Given the description of an element on the screen output the (x, y) to click on. 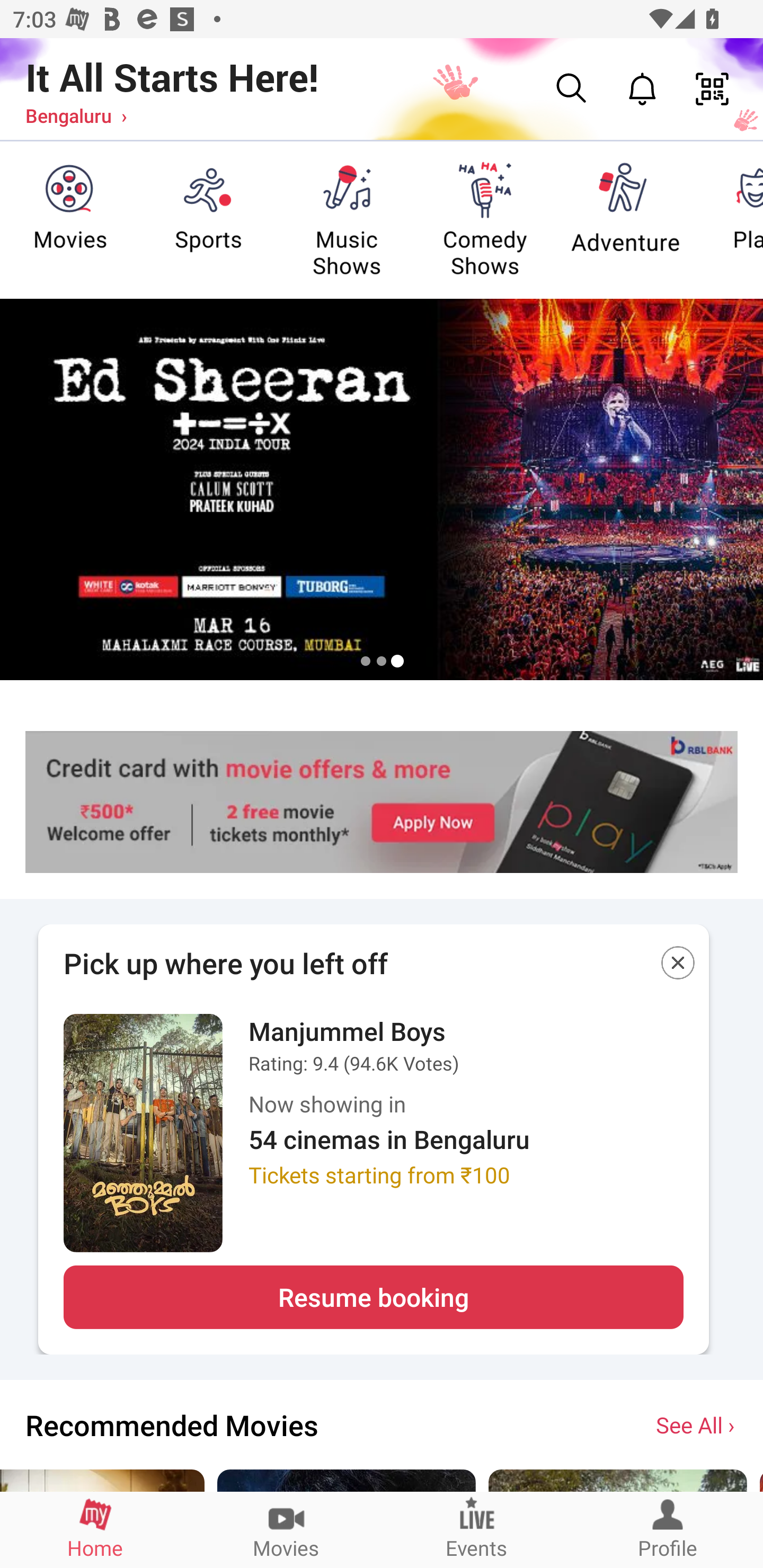
Bengaluru  › (76, 114)
  (678, 966)
Resume booking (373, 1297)
See All › (696, 1424)
Home (95, 1529)
Movies (285, 1529)
Events (476, 1529)
Profile (667, 1529)
